Given the description of an element on the screen output the (x, y) to click on. 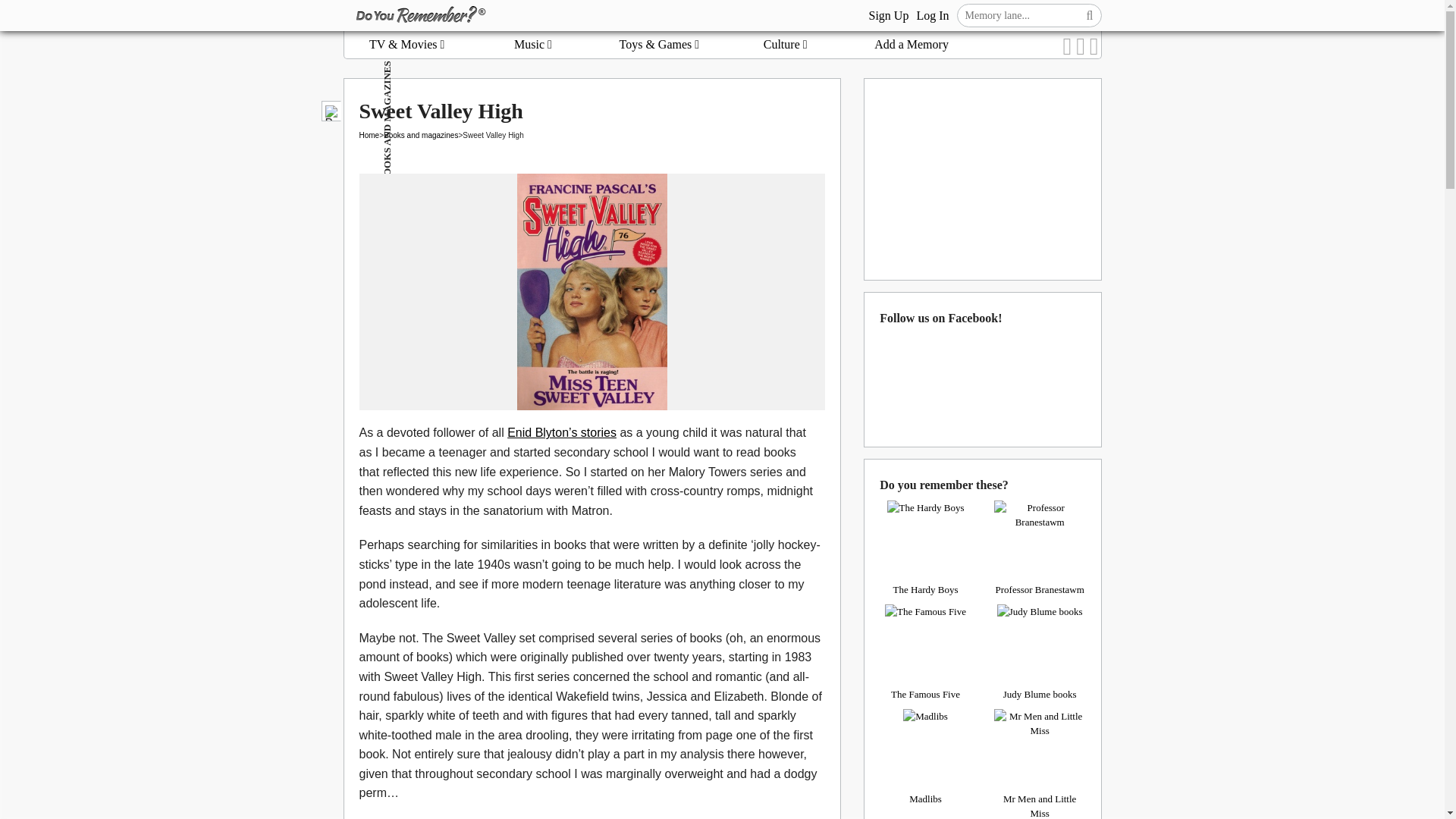
Sign Up (887, 15)
Music (532, 43)
Add a Memory (912, 43)
Log In (932, 15)
Culture (785, 43)
